Given the description of an element on the screen output the (x, y) to click on. 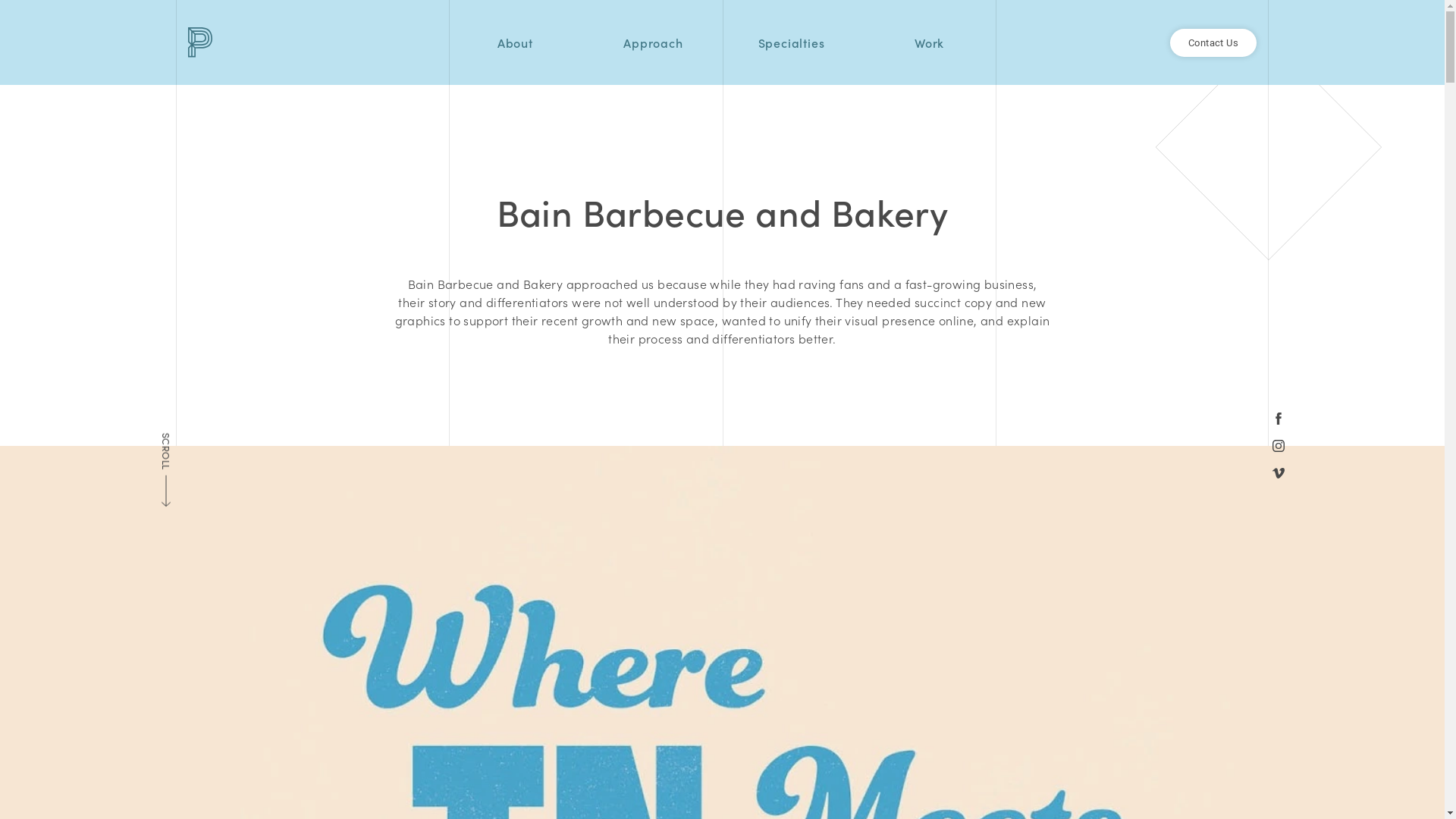
Specialties Element type: text (791, 42)
Work Element type: text (929, 42)
Contact Us Element type: text (1213, 42)
Approach Element type: text (652, 42)
About Element type: text (515, 42)
